Given the description of an element on the screen output the (x, y) to click on. 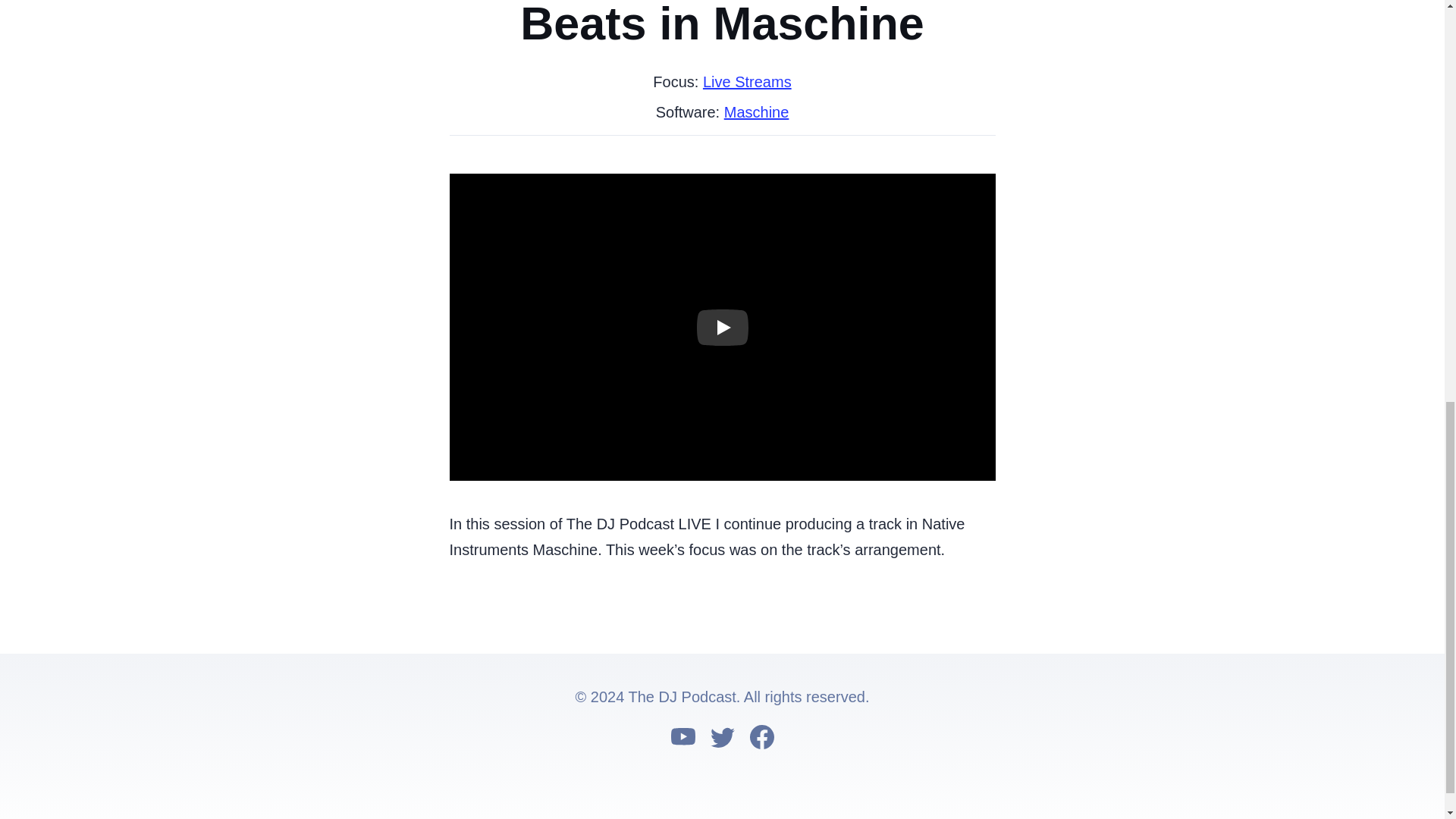
Live Streams (747, 81)
Maschine (756, 112)
